Given the description of an element on the screen output the (x, y) to click on. 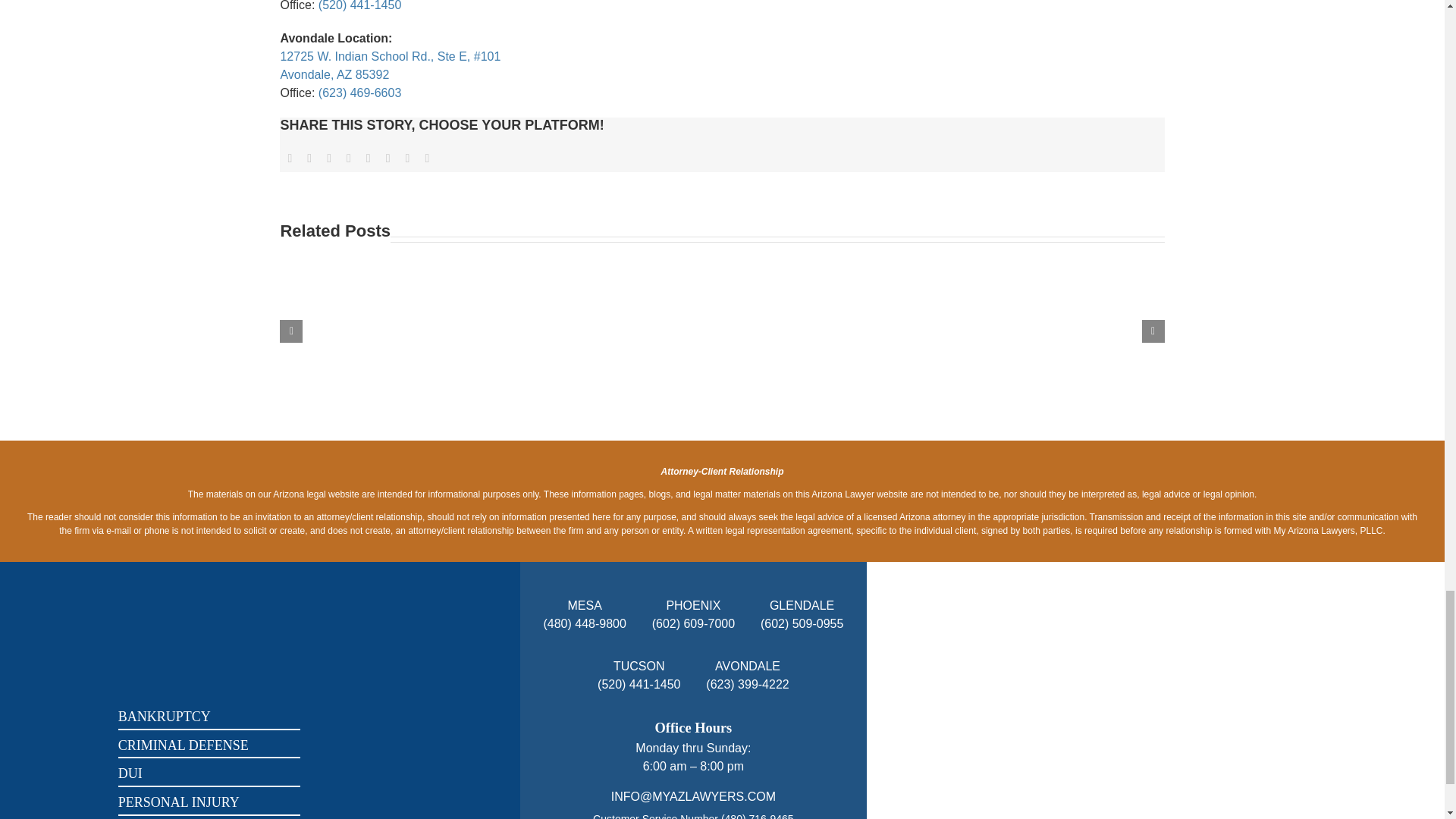
Pinterest (387, 157)
X (308, 157)
Reddit (328, 157)
LinkedIn (348, 157)
Email (426, 157)
Vk (407, 157)
Facebook (289, 157)
Tumblr (368, 157)
